Given the description of an element on the screen output the (x, y) to click on. 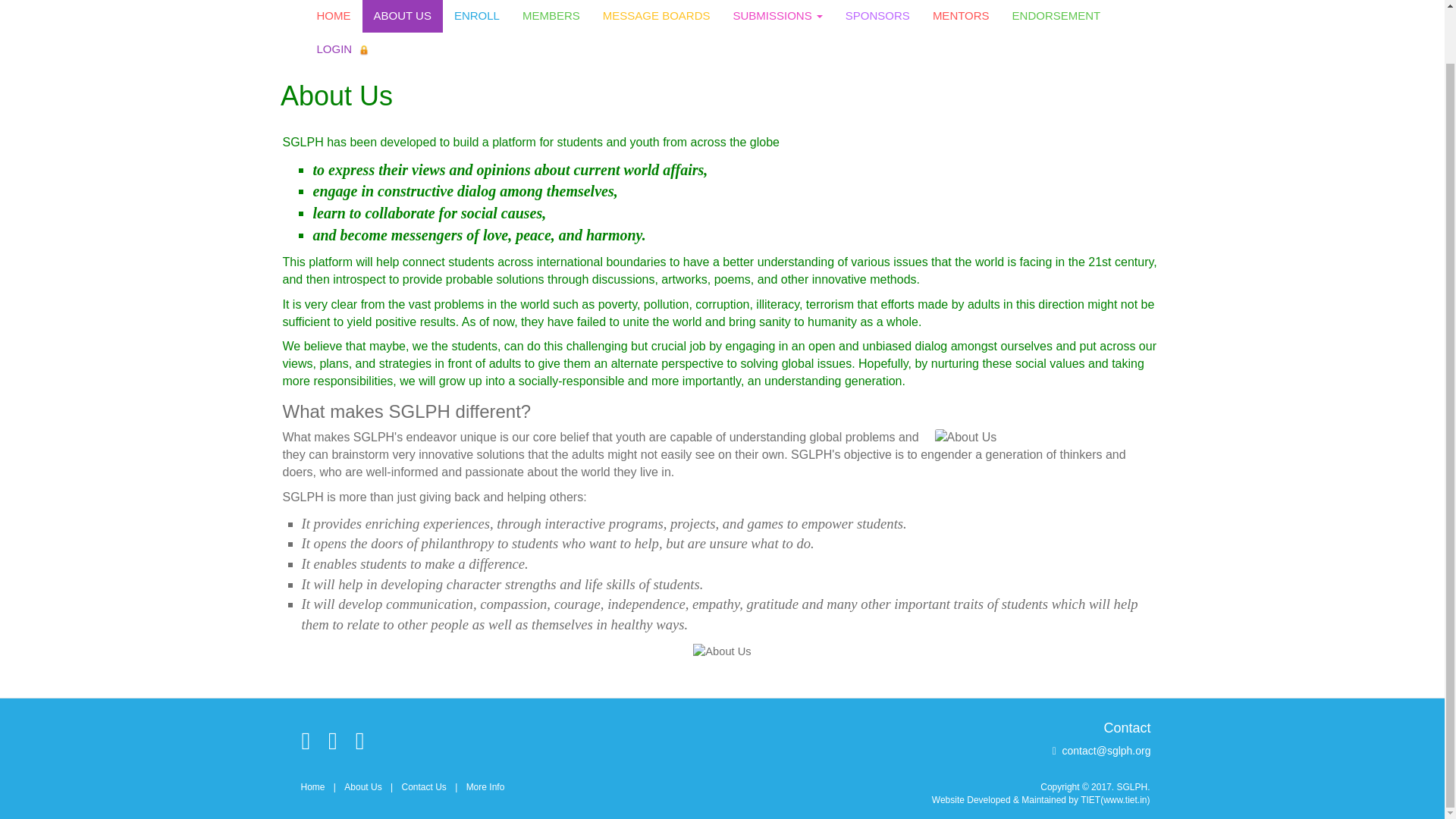
LOGIN   (342, 49)
More Info (485, 786)
Home (312, 786)
About Us (362, 786)
SUBMISSIONS (776, 16)
MESSAGE BOARDS (656, 16)
Contact Us (422, 786)
MENTORS (961, 16)
Contact (1126, 727)
SPONSORS (877, 16)
